Given the description of an element on the screen output the (x, y) to click on. 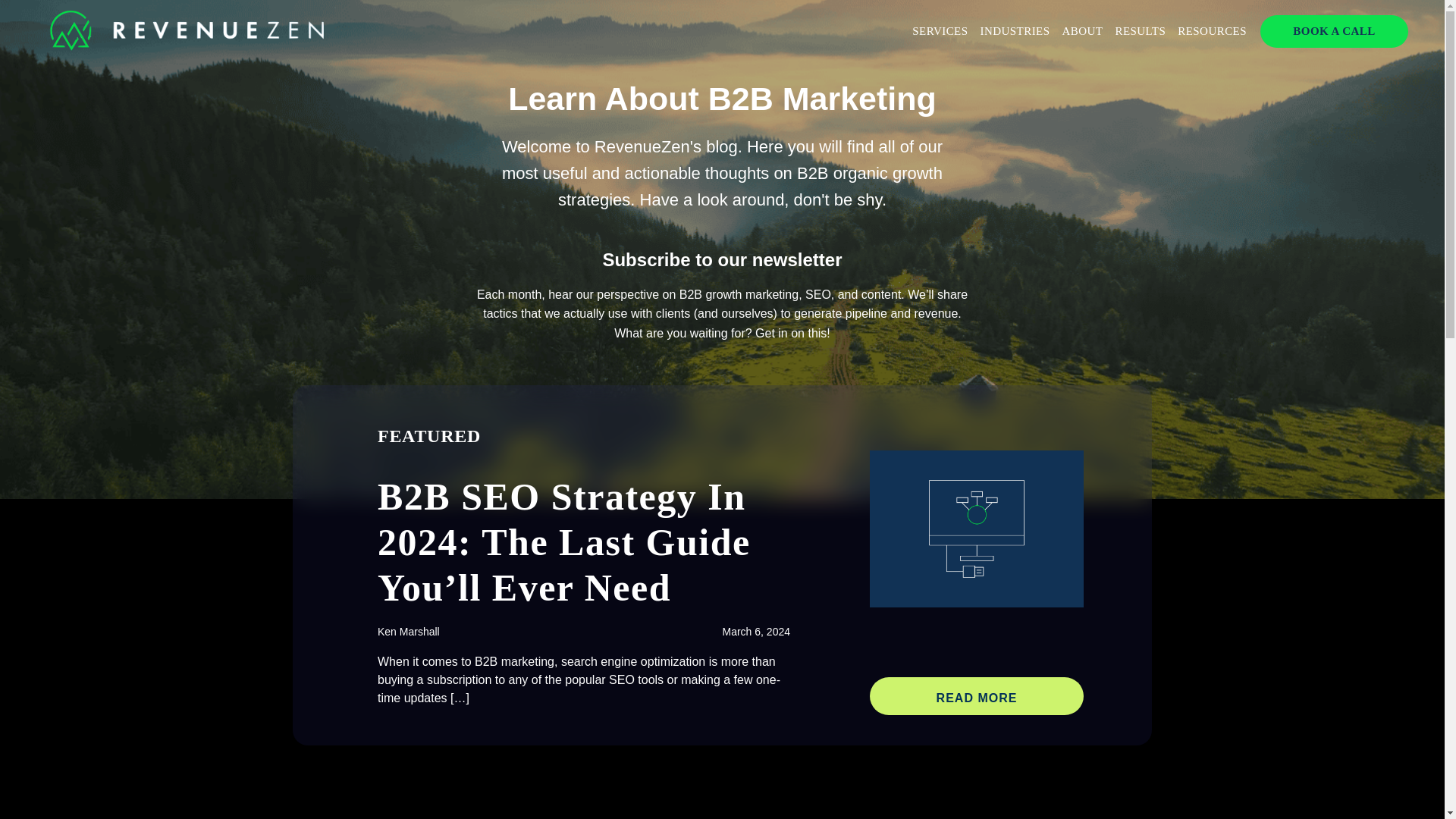
READ MORE (976, 695)
home (187, 30)
BOOK A CALL (1333, 31)
SERVICES (939, 31)
RESULTS (1140, 31)
ABOUT (1083, 31)
INDUSTRIES (1015, 31)
RESOURCES (1212, 31)
